Given the description of an element on the screen output the (x, y) to click on. 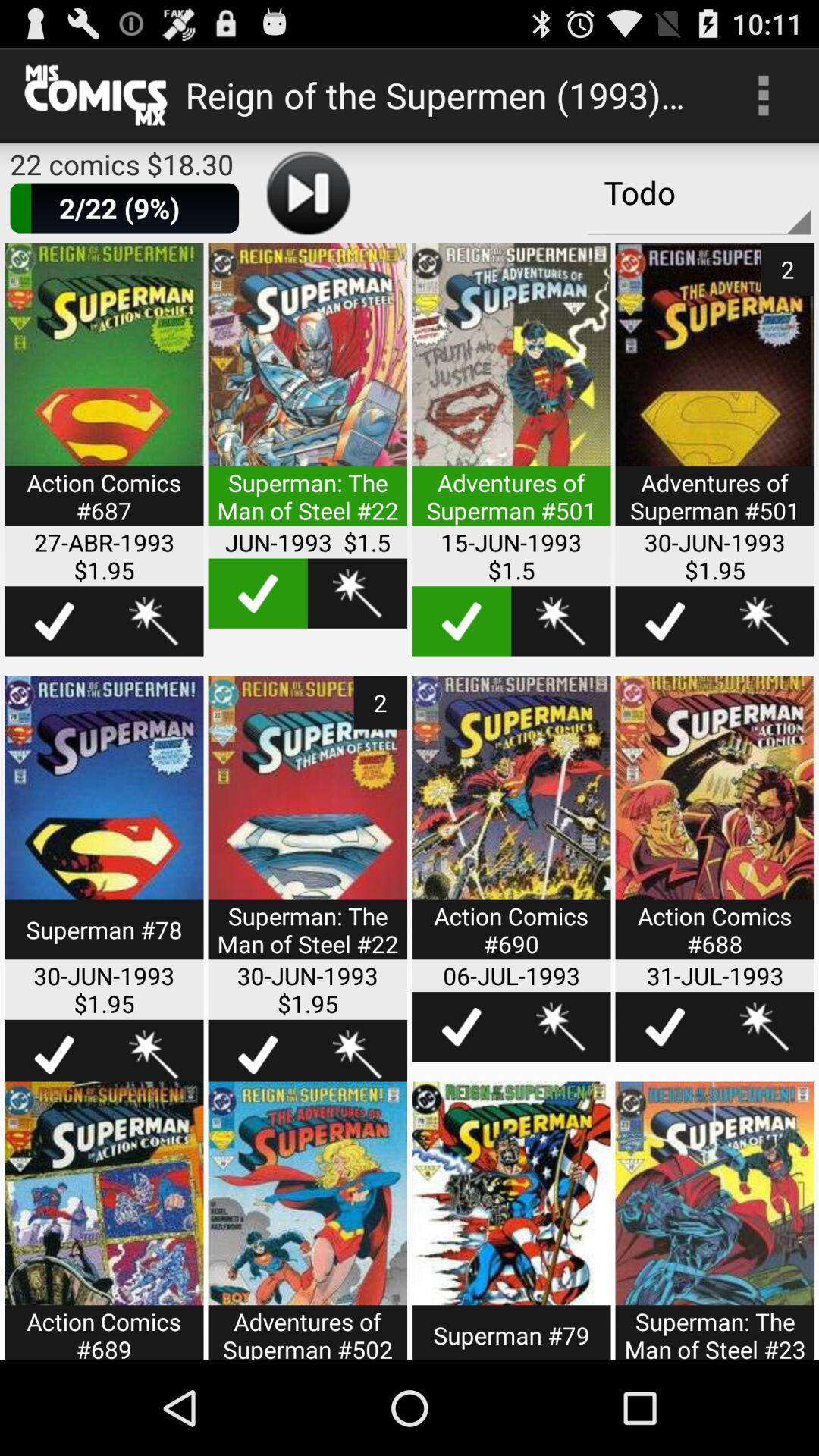
open selection (103, 827)
